Given the description of an element on the screen output the (x, y) to click on. 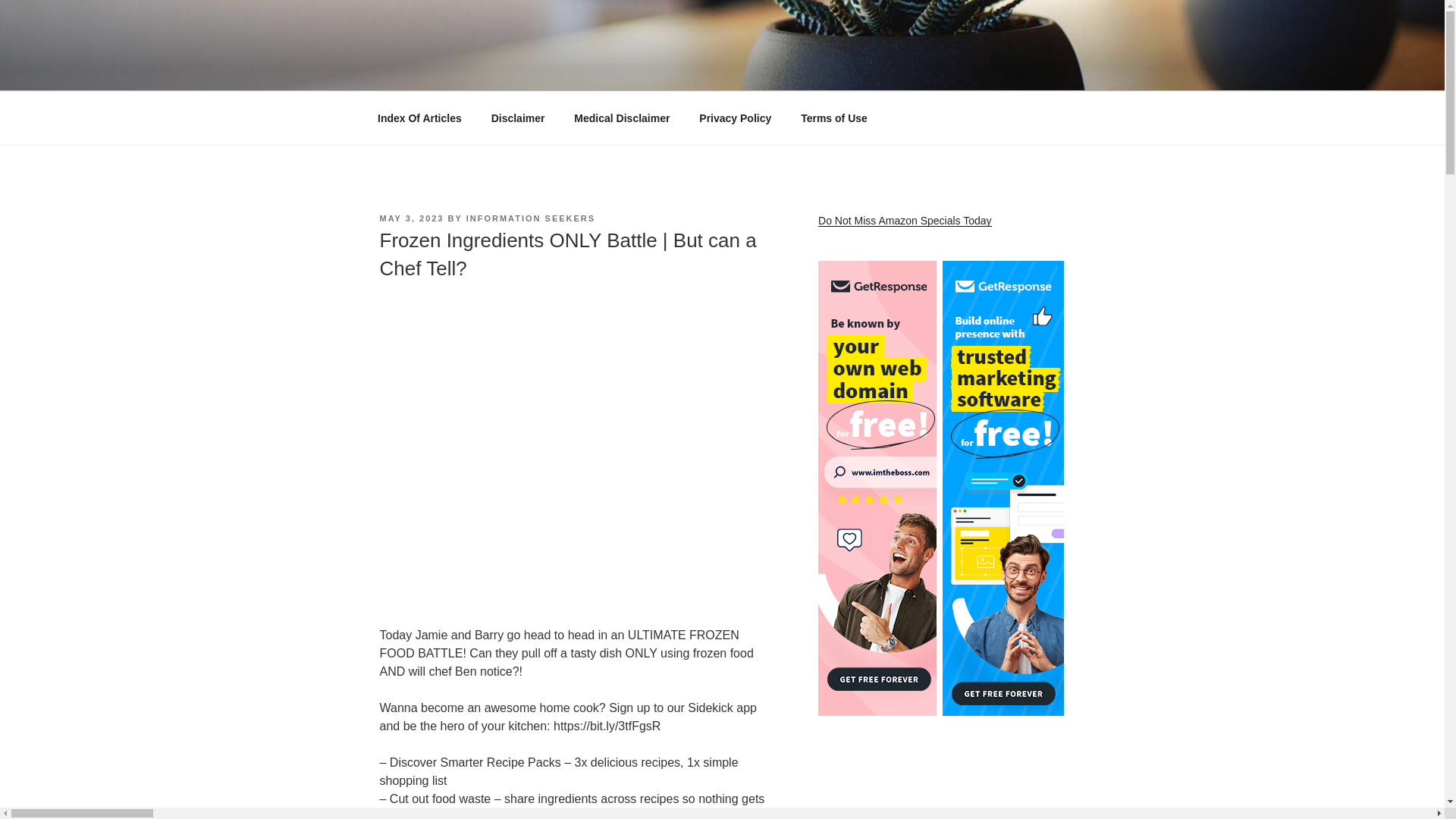
Disclaimer (517, 118)
Medical Disclaimer (621, 118)
Do Not Miss Amazon Specials Today (904, 220)
INFORMATION SEEKERS (530, 217)
Privacy Policy (734, 118)
Terms of Use (833, 118)
MAY 3, 2023 (411, 217)
Do Not Miss Amazon Specials Today (904, 220)
Index Of Articles (419, 118)
